Given the description of an element on the screen output the (x, y) to click on. 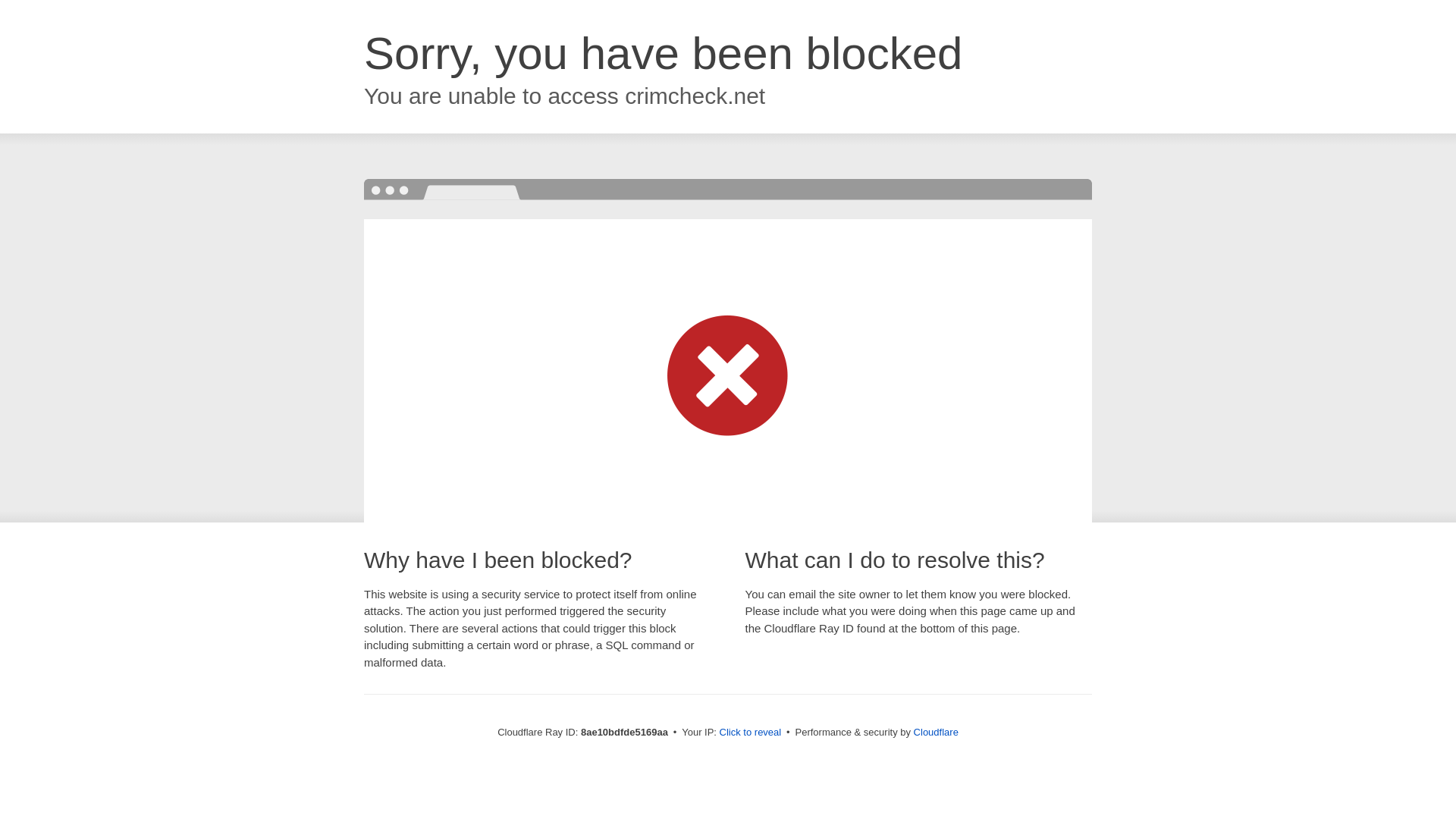
Cloudflare (936, 731)
Click to reveal (750, 732)
